Given the description of an element on the screen output the (x, y) to click on. 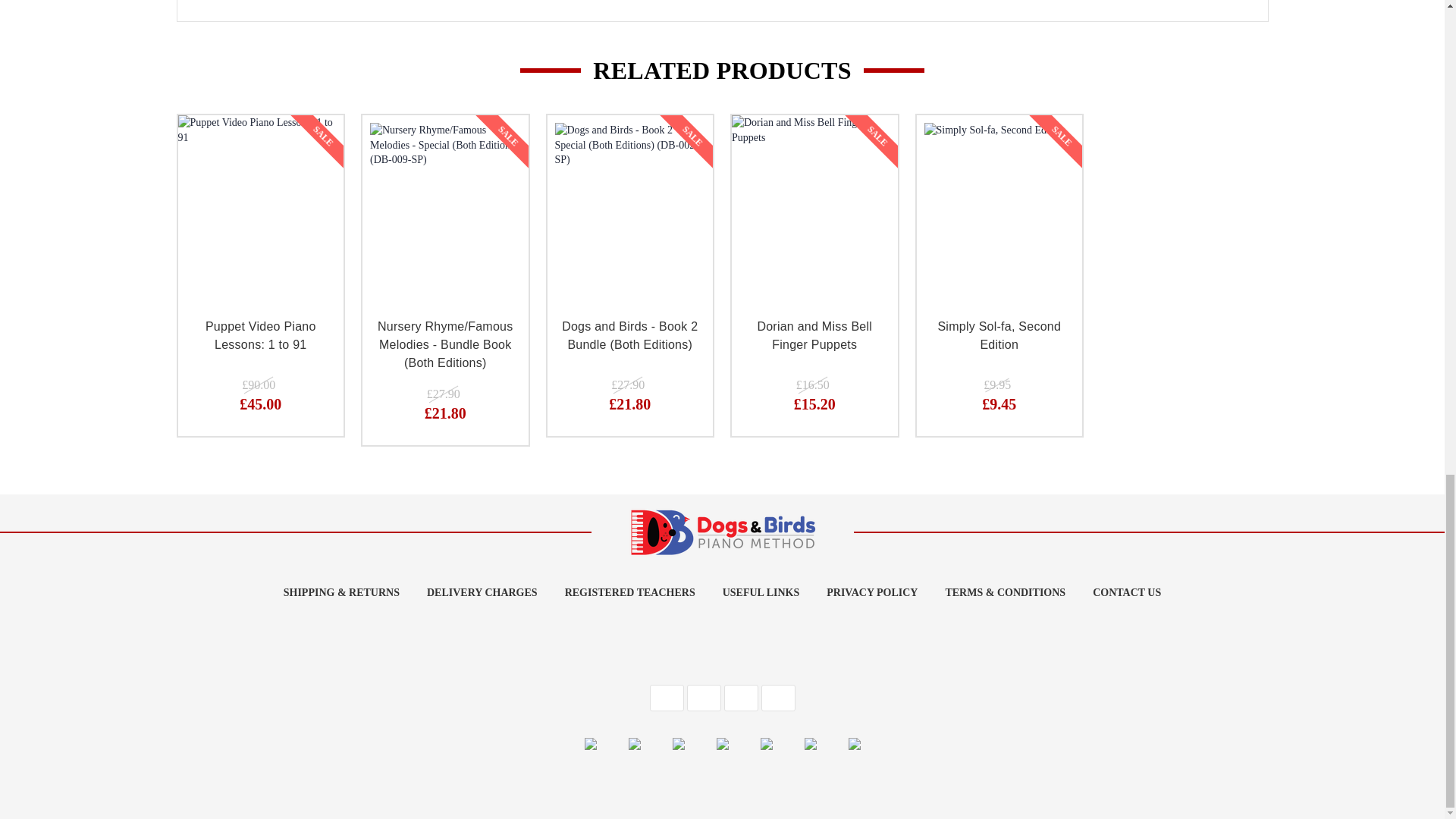
Puppet Video Piano Lessons: 1 to 91 (260, 198)
